Given the description of an element on the screen output the (x, y) to click on. 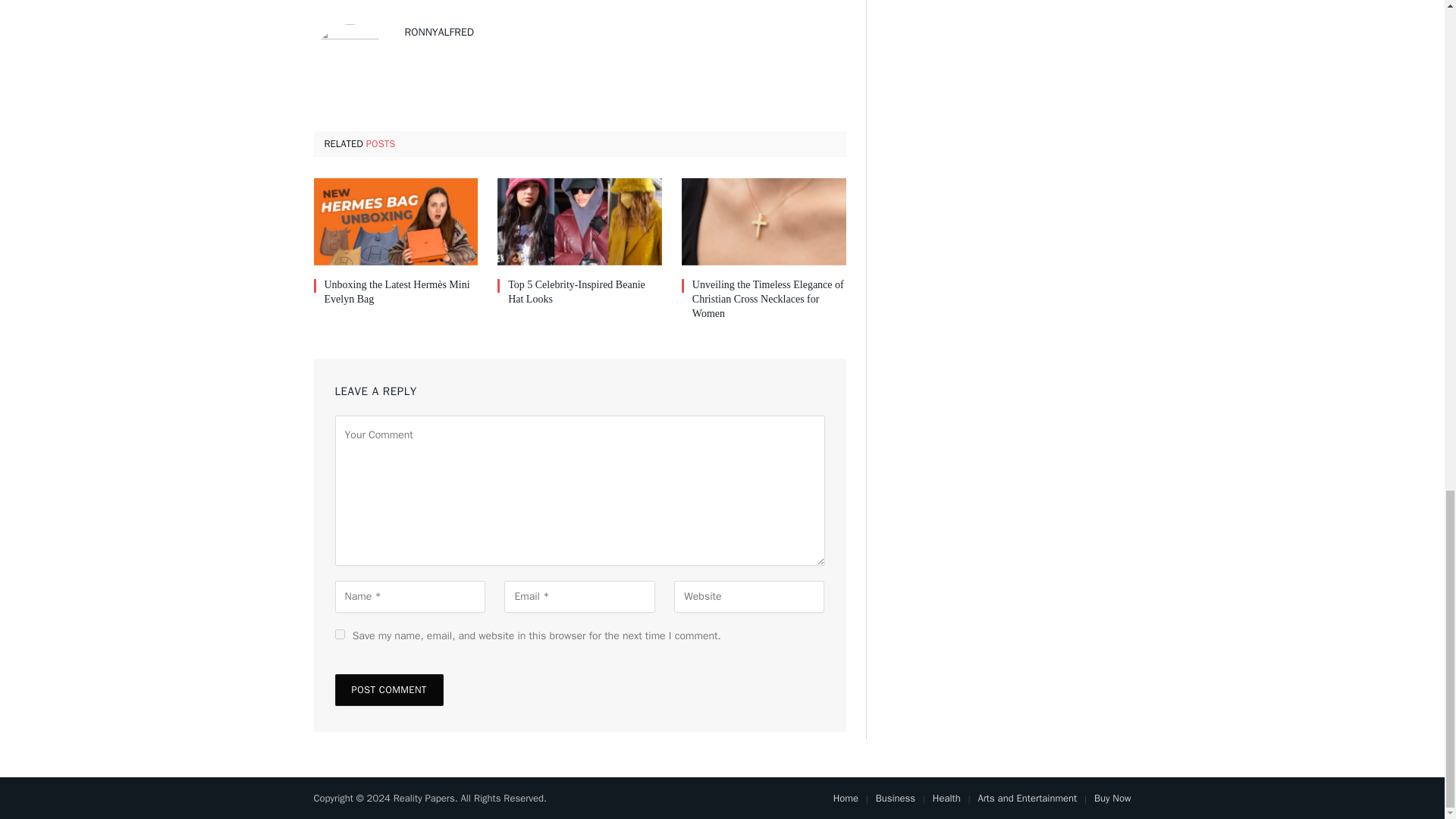
Post Comment (389, 689)
yes (339, 634)
RONNYALFRED (439, 32)
